Given the description of an element on the screen output the (x, y) to click on. 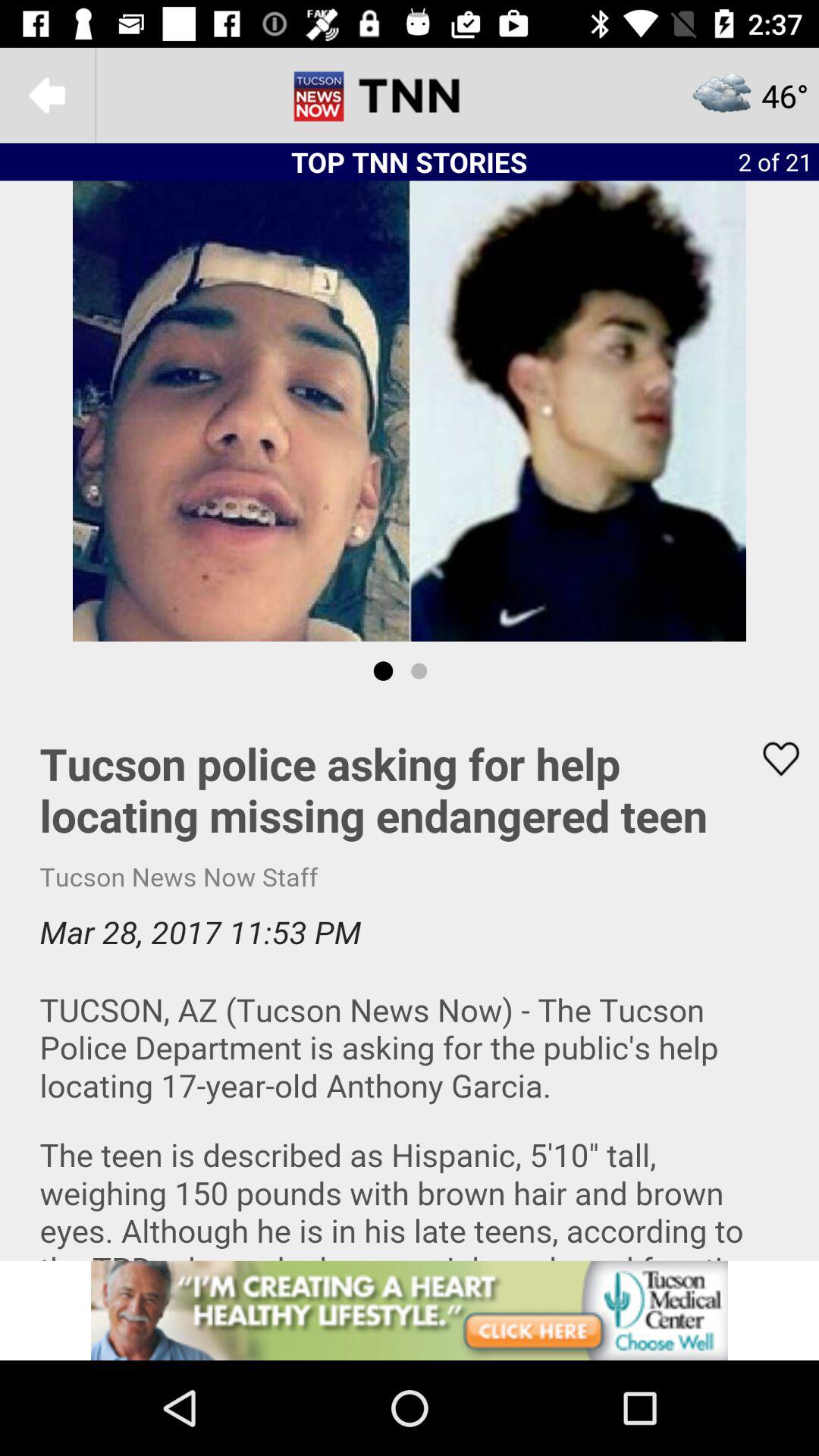
open story (409, 980)
